Given the description of an element on the screen output the (x, y) to click on. 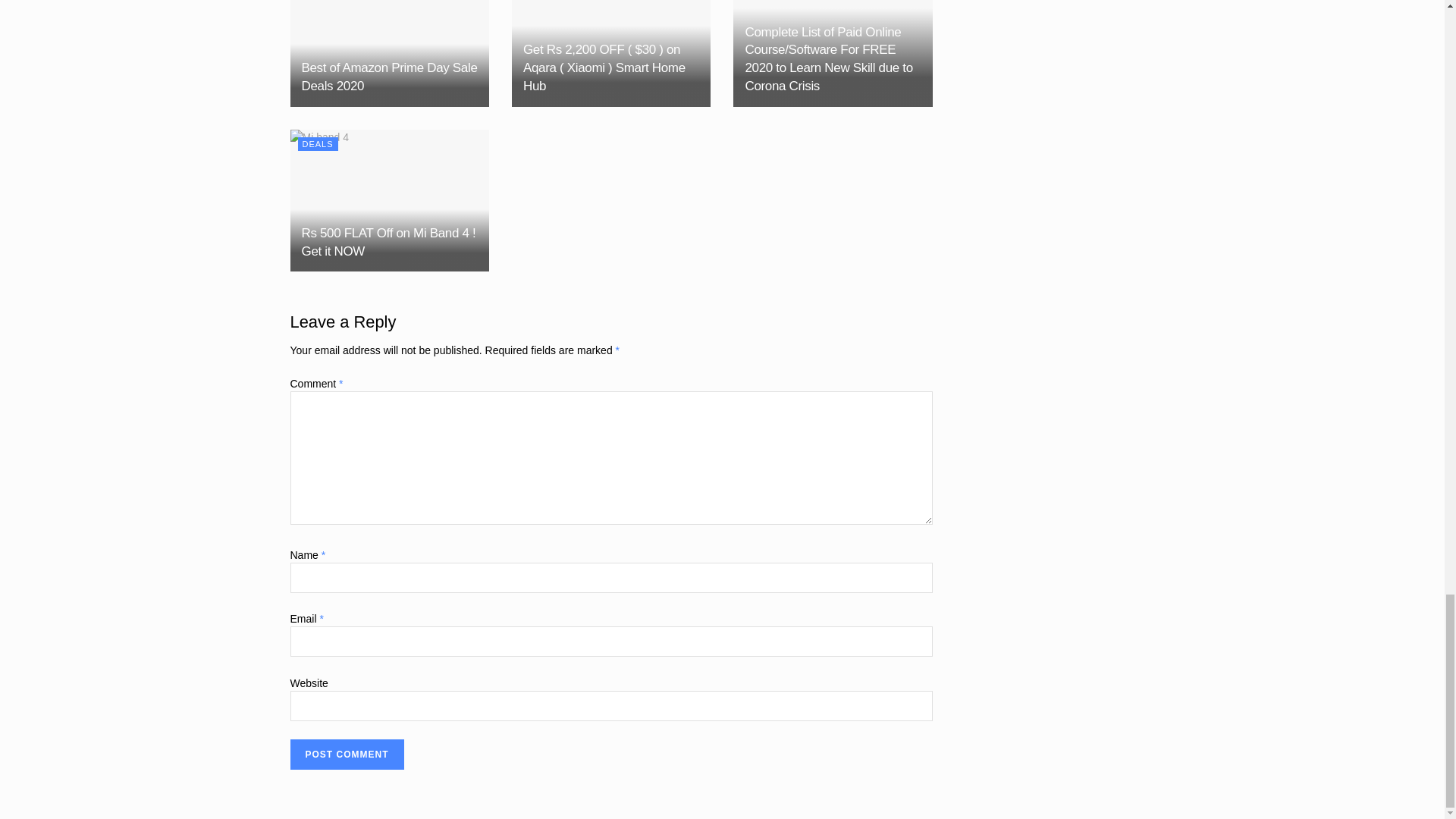
Post Comment (346, 754)
